Given the description of an element on the screen output the (x, y) to click on. 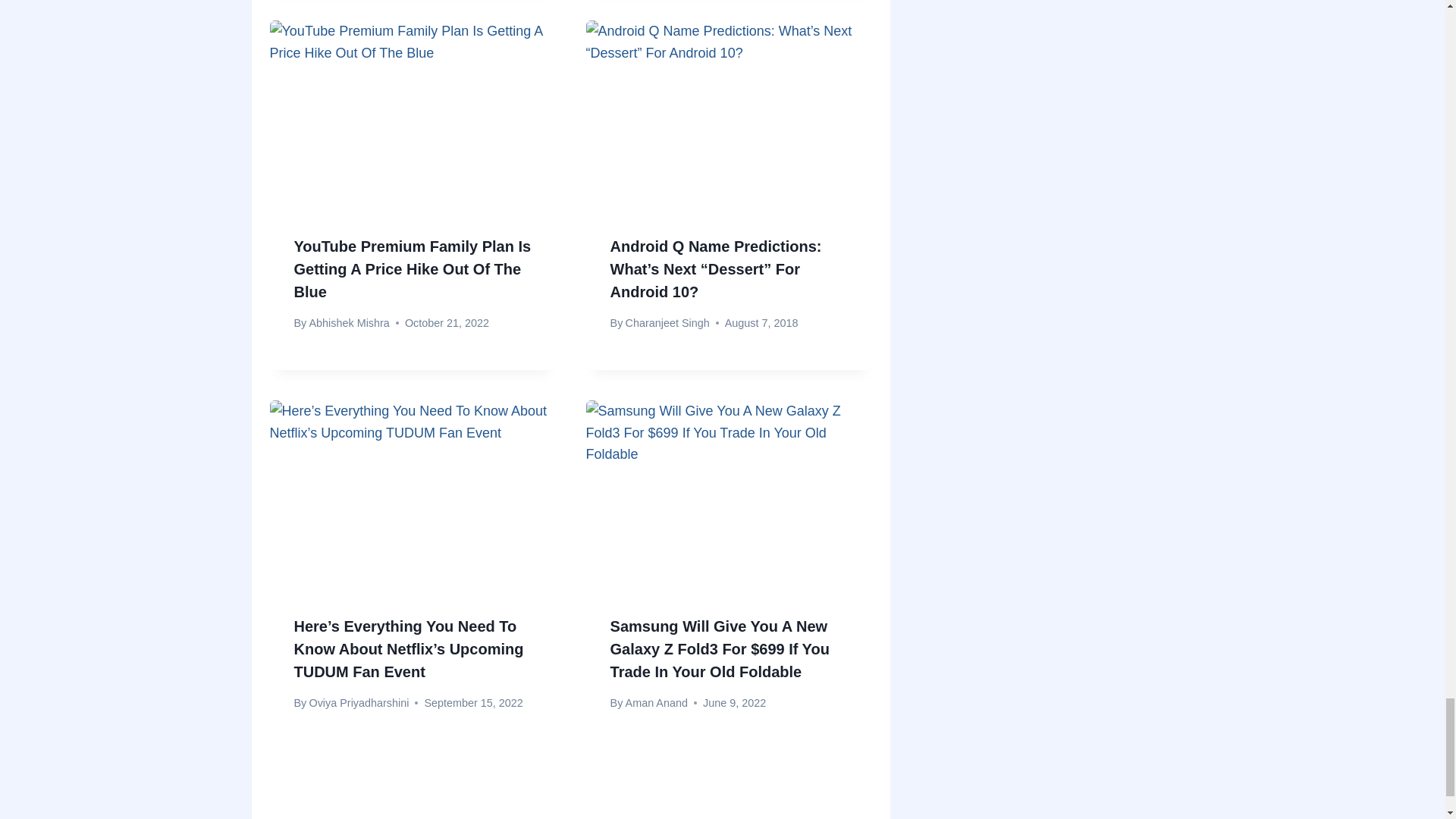
Follow Yetnesh Dubey on X formerly Twitter (341, 248)
Shaheer Anwar (663, 805)
Follow Yetnesh Dubey on Instagram (371, 248)
Aditya Tiwari (339, 805)
Follow Yetnesh Dubey on Linkedin (403, 248)
Posts by Yetnesh Dubey (386, 149)
Yetnesh Dubey (386, 149)
